Given the description of an element on the screen output the (x, y) to click on. 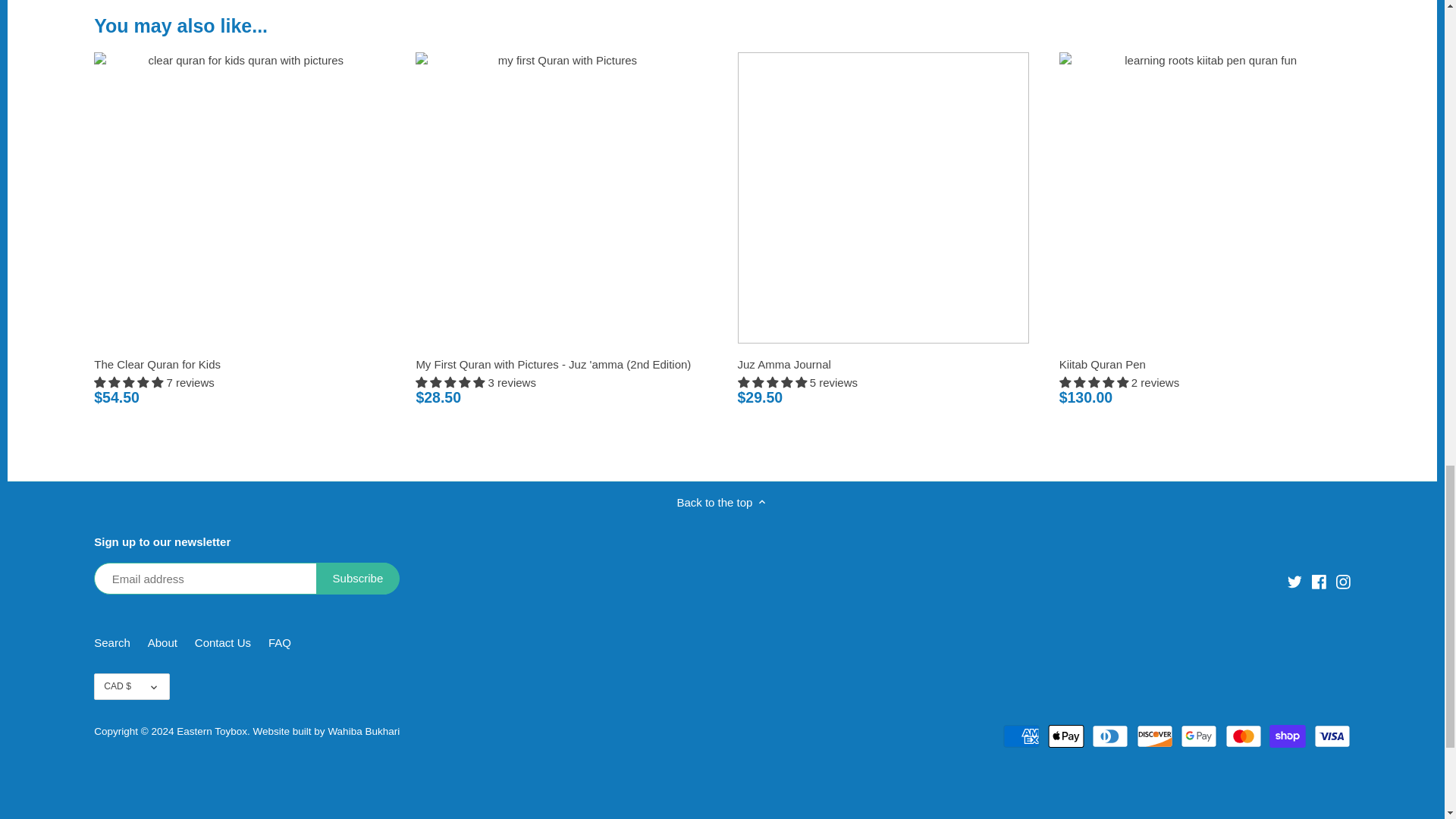
Apple Pay (1066, 735)
Facebook (1318, 581)
Instagram (1343, 580)
Twitter (1294, 580)
American Express (1021, 735)
Diners Club (1110, 735)
Facebook (1318, 580)
Instagram (1342, 581)
Twitter (1294, 581)
Subscribe (357, 578)
